Given the description of an element on the screen output the (x, y) to click on. 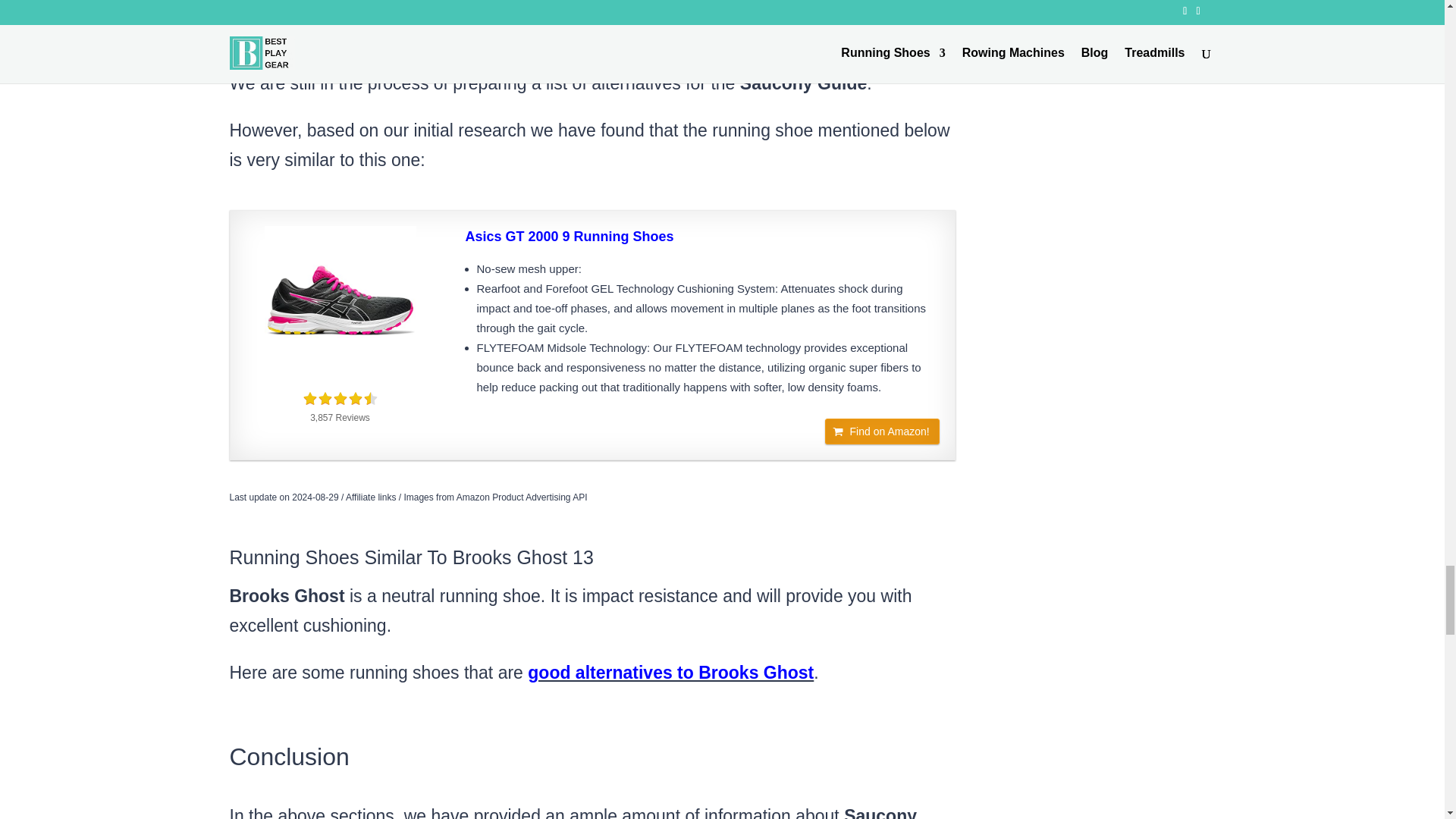
Asics GT 2000  9 Running Shoes (702, 237)
Find on Amazon! (882, 431)
Asics GT 2000  9 Running Shoes (340, 301)
Reviews on Amazon (339, 398)
